Given the description of an element on the screen output the (x, y) to click on. 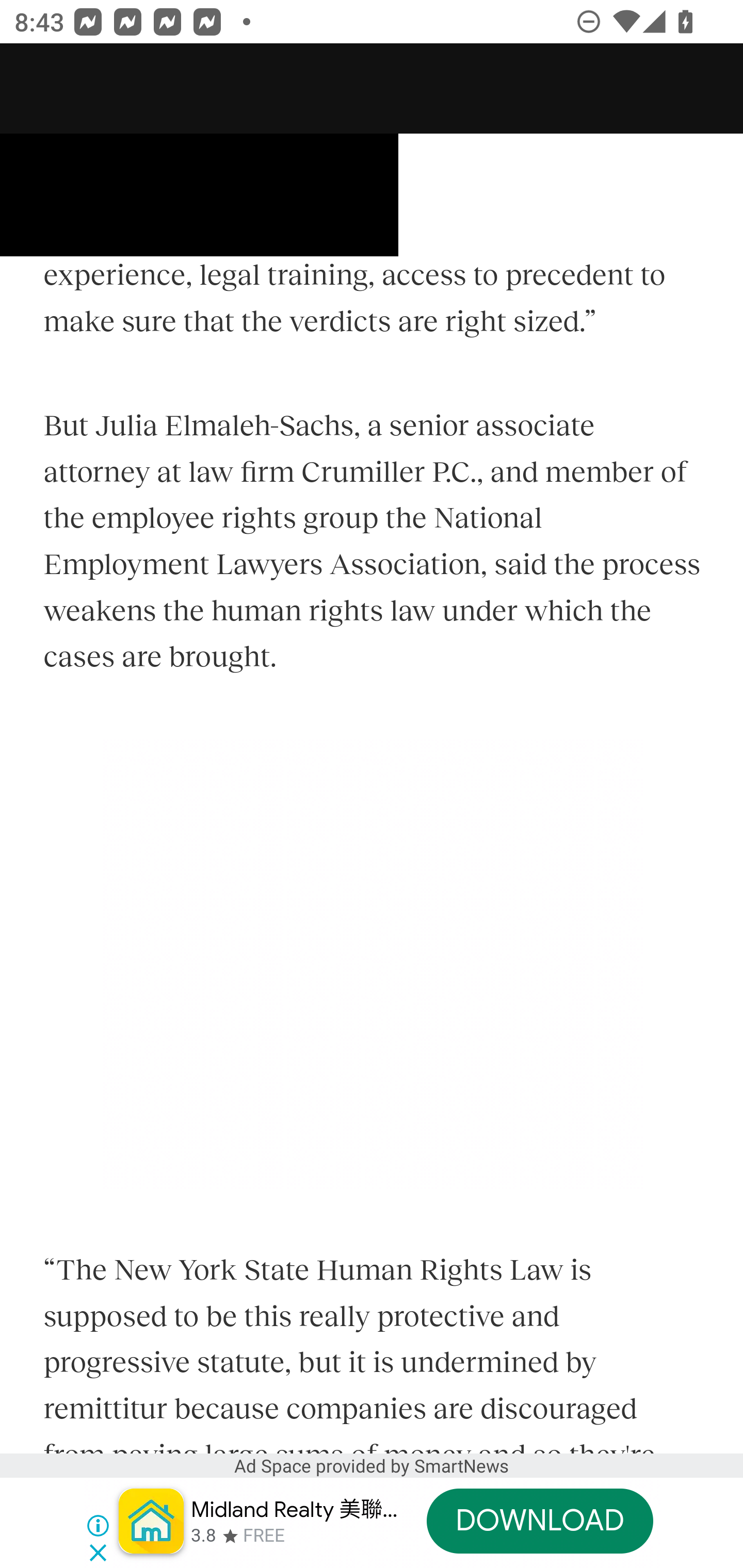
DOWNLOAD (539, 1520)
Midland Realty 美聯… (294, 1509)
